Given the description of an element on the screen output the (x, y) to click on. 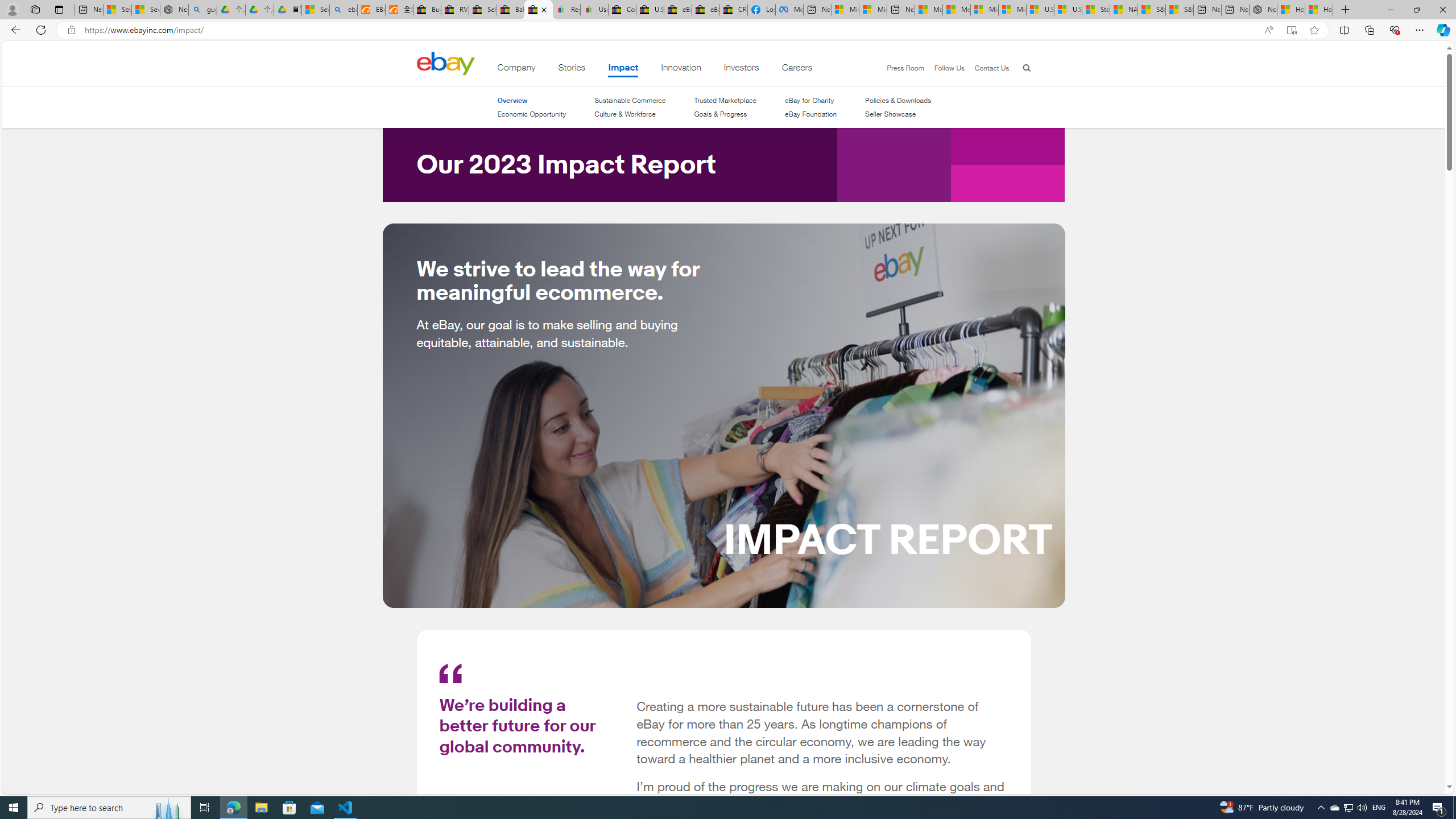
Log into Facebook (761, 9)
Follow Us (943, 68)
Culture & Workforce (629, 113)
Overview (511, 99)
Trusted Marketplace (725, 99)
Policies & Downloads (897, 99)
Careers (796, 69)
Trusted Marketplace (725, 100)
eBay Inc. Reports Third Quarter 2023 Results (706, 9)
Impact (623, 69)
Investors (740, 69)
